Given the description of an element on the screen output the (x, y) to click on. 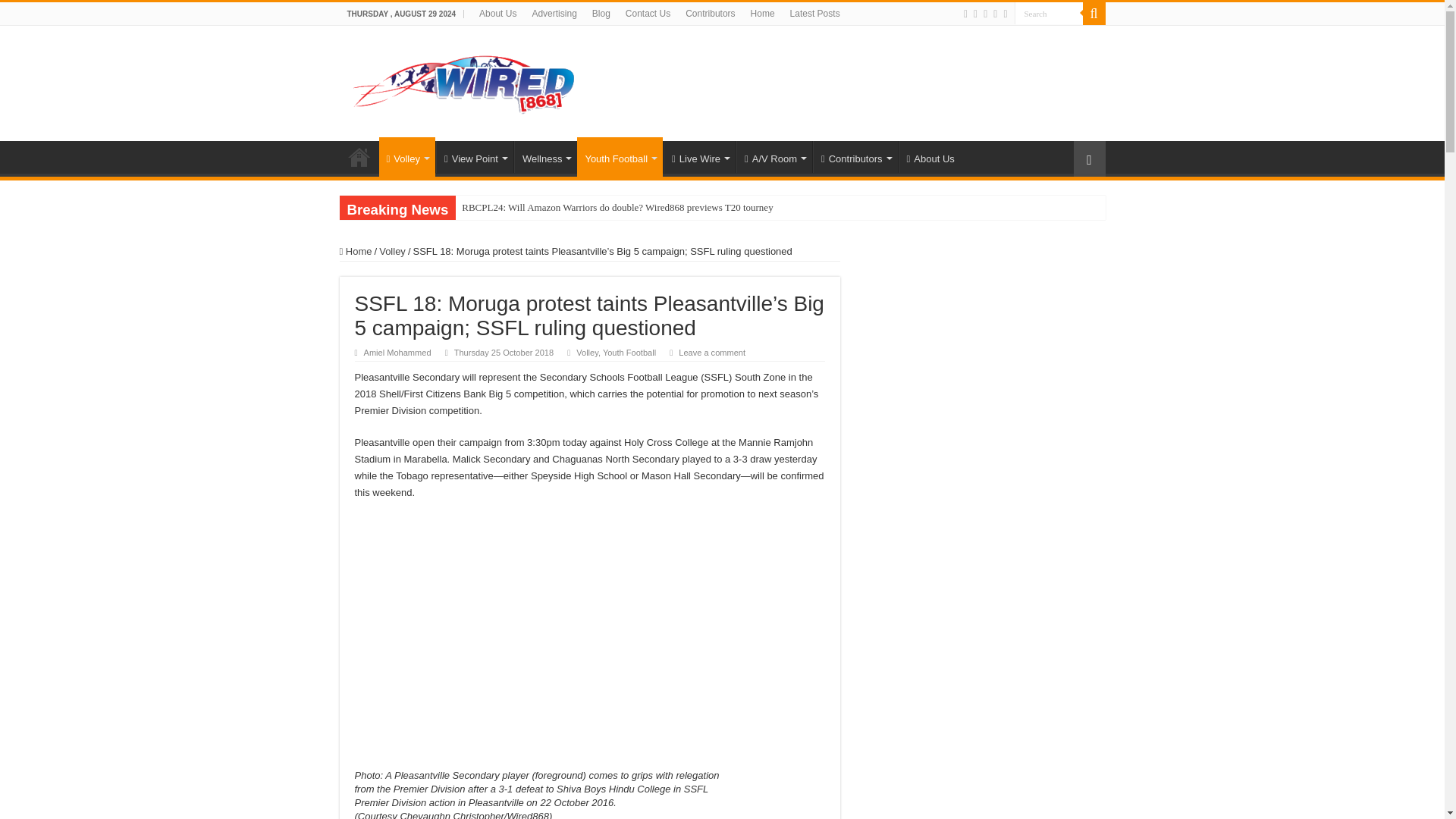
Latest Posts (815, 13)
Home (358, 156)
Contributors (710, 13)
Search (1048, 13)
Advertising (553, 13)
Search (1048, 13)
View Point (474, 156)
Volley (406, 156)
Blog (601, 13)
Wired868 (464, 80)
